Given the description of an element on the screen output the (x, y) to click on. 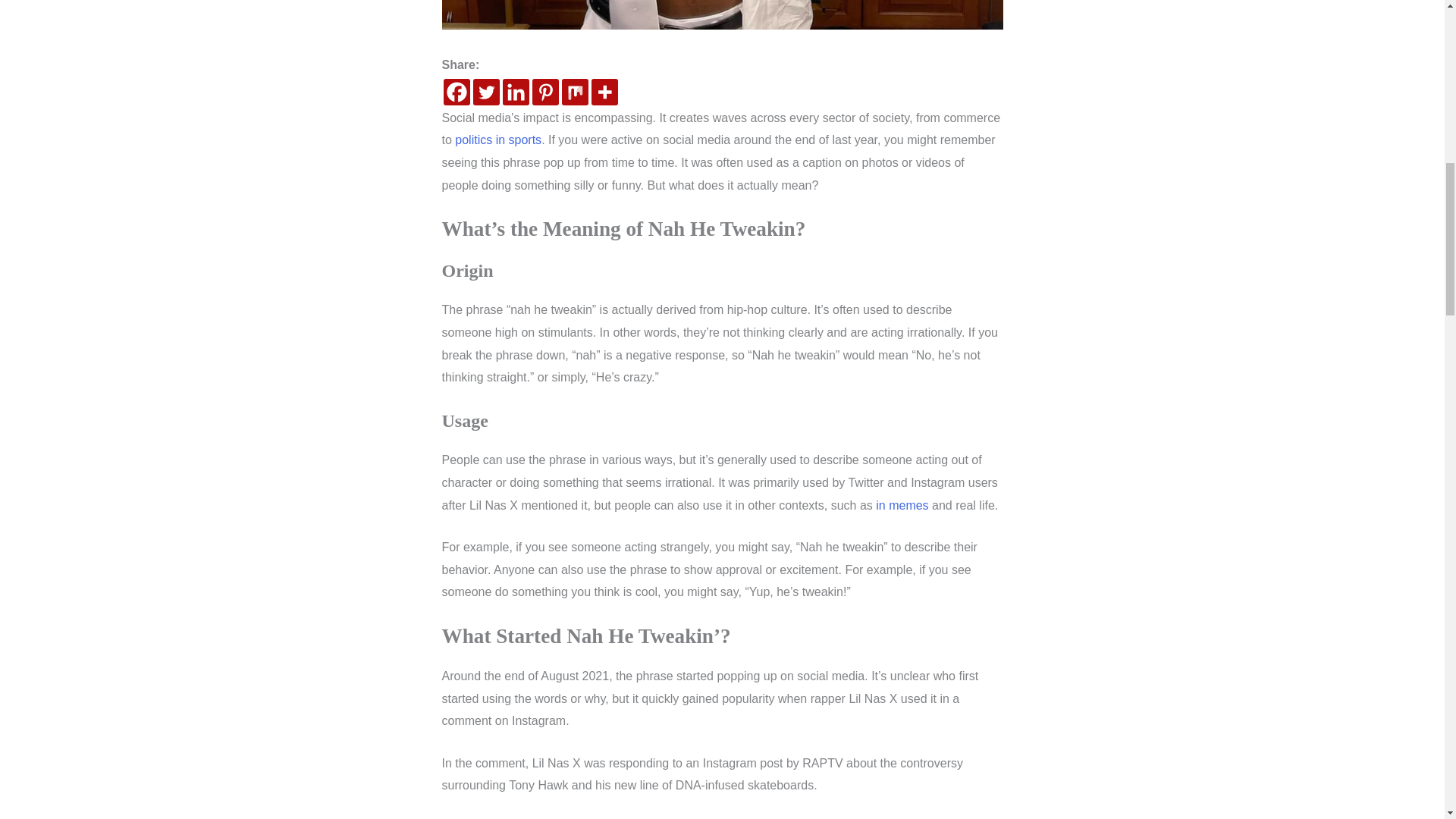
in memes (902, 504)
Facebook (455, 91)
Mix (574, 91)
More (604, 91)
Pinterest (545, 91)
Linkedin (515, 91)
politics in sports (497, 139)
Twitter (486, 91)
